Given the description of an element on the screen output the (x, y) to click on. 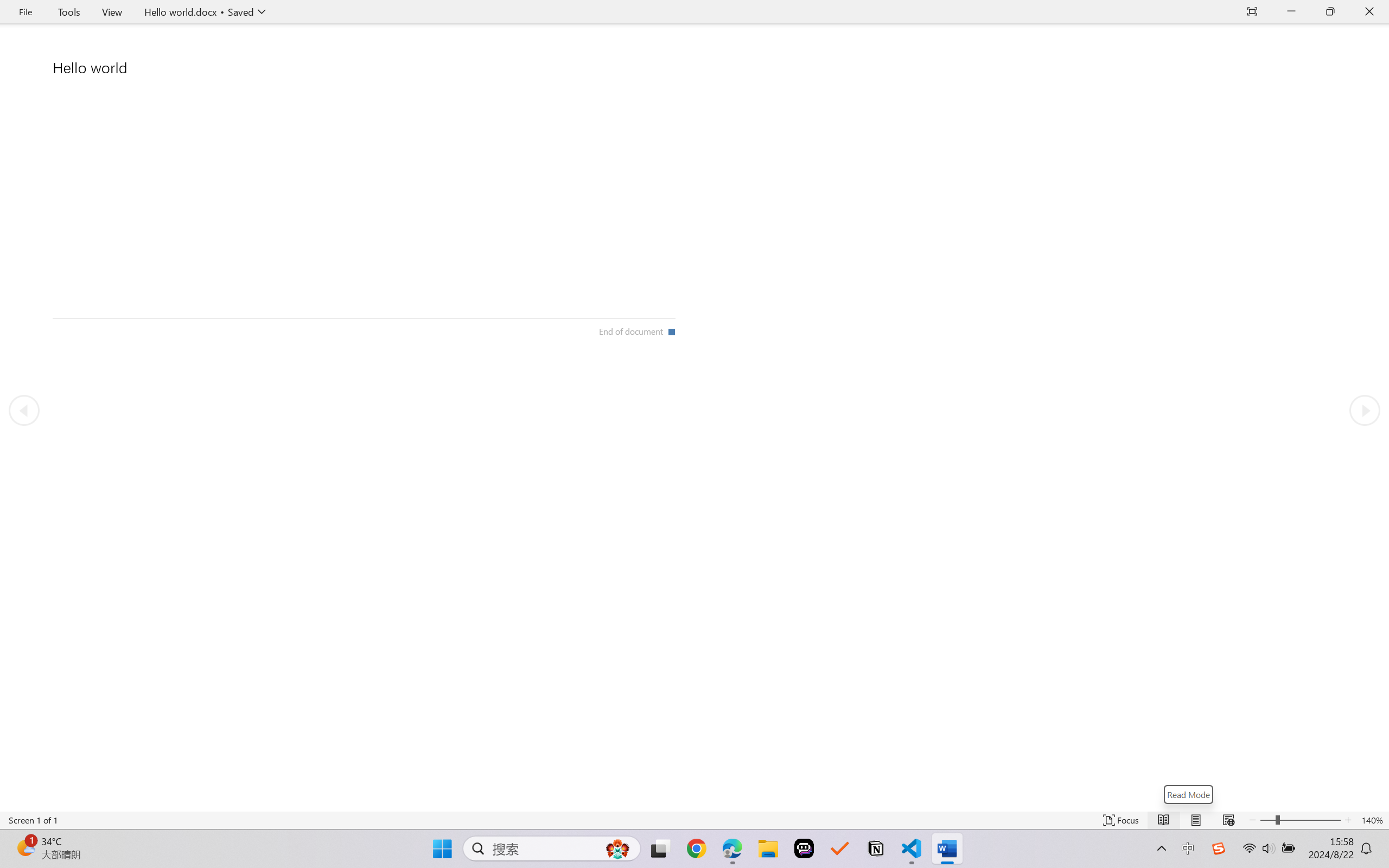
Read Mode (1187, 793)
Decrease Text Size (1252, 819)
Close (1369, 11)
Print Layout (1196, 819)
Web Layout (1228, 819)
Minimize (1291, 11)
Tools (69, 11)
Class: MsoCommandBar (694, 819)
Text Size (1300, 819)
View (112, 11)
Zoom Out (1267, 819)
Restore Down (1330, 11)
Class: Image (1218, 847)
